Given the description of an element on the screen output the (x, y) to click on. 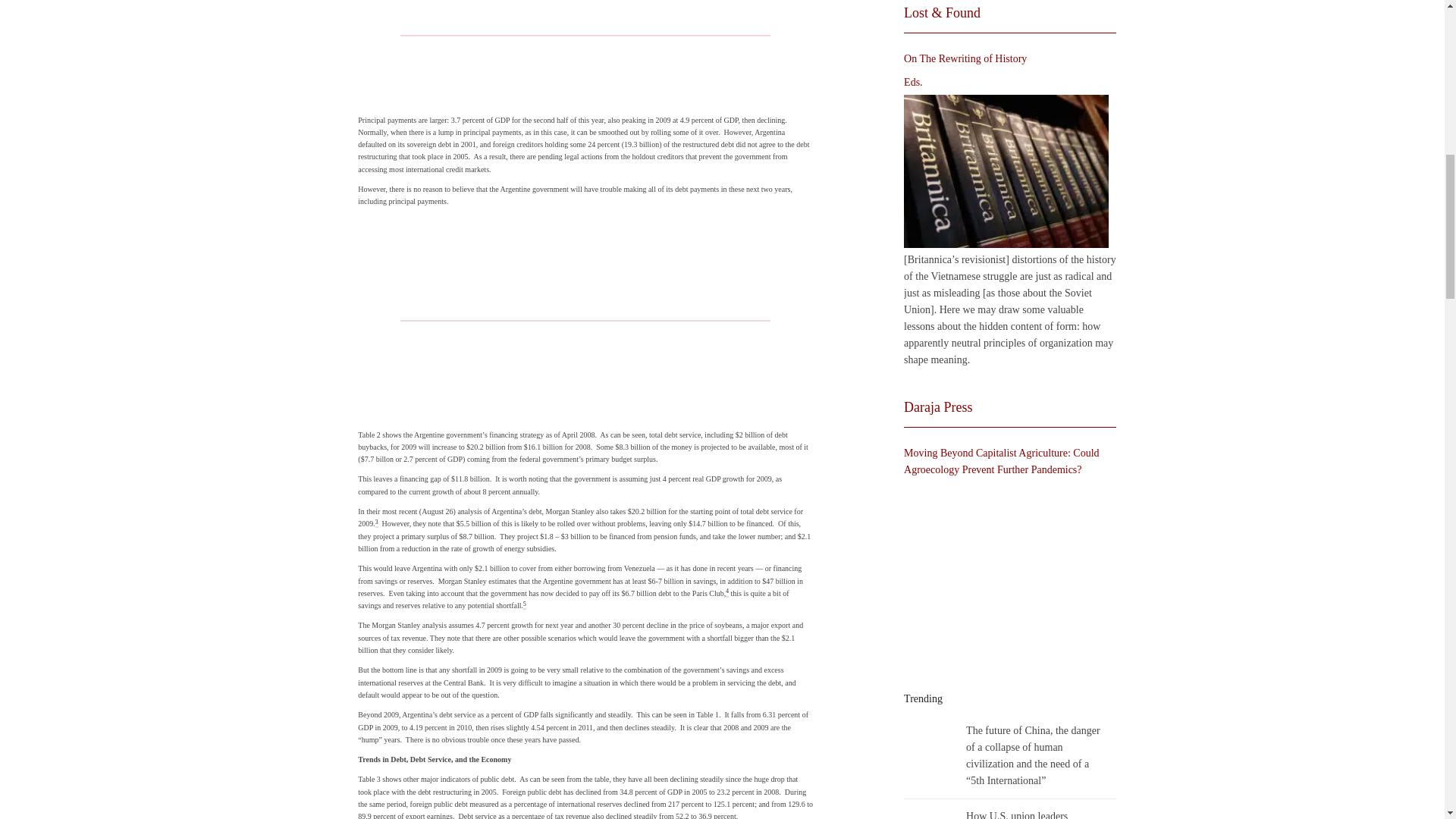
Click on the table for a larger view. (585, 318)
On The Rewriting of History (1006, 171)
Posts by Eds. (913, 82)
Click on the table for a larger view. (585, 53)
